Given the description of an element on the screen output the (x, y) to click on. 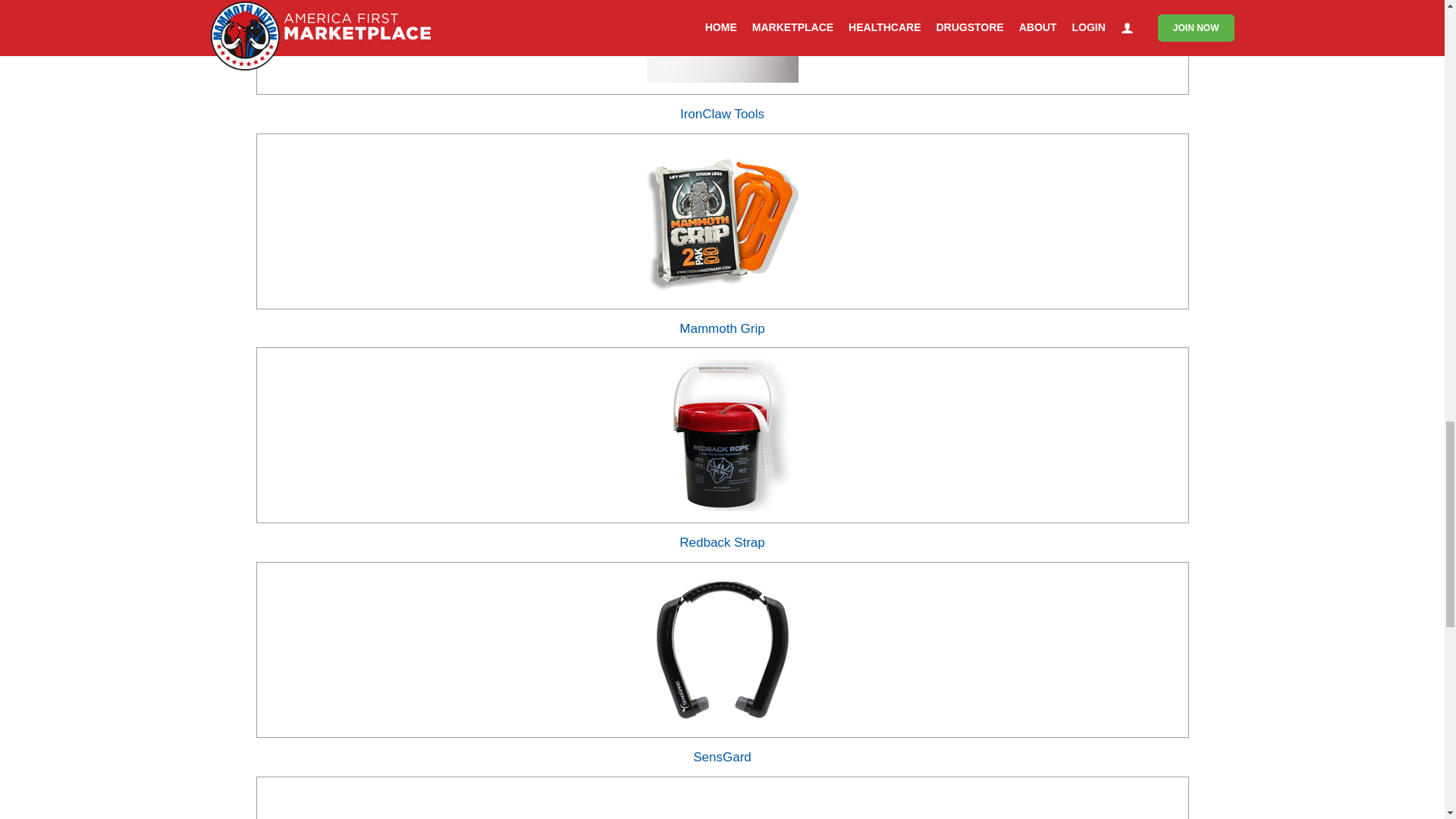
Redback Strap (721, 542)
SensGard (722, 757)
Mammoth Grip (721, 328)
IronClaw Tools (721, 114)
